Given the description of an element on the screen output the (x, y) to click on. 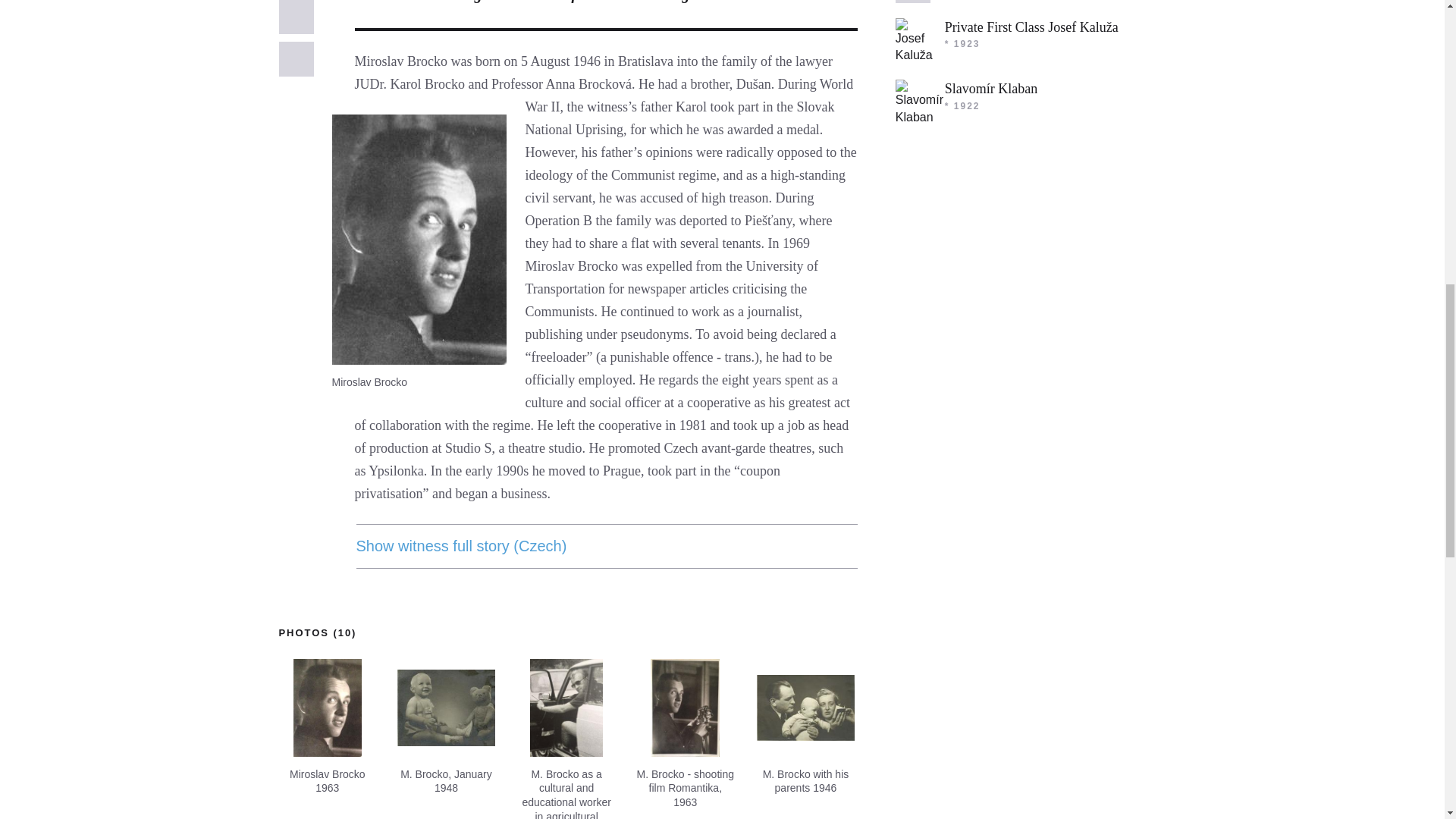
M. Brocko, January 1948 (446, 707)
M. Brocko - shooting film Romantika,  1963 (684, 707)
Miroslav Brocko 1963 (328, 707)
M. Brocko with his parents 1946  (805, 707)
